Given the description of an element on the screen output the (x, y) to click on. 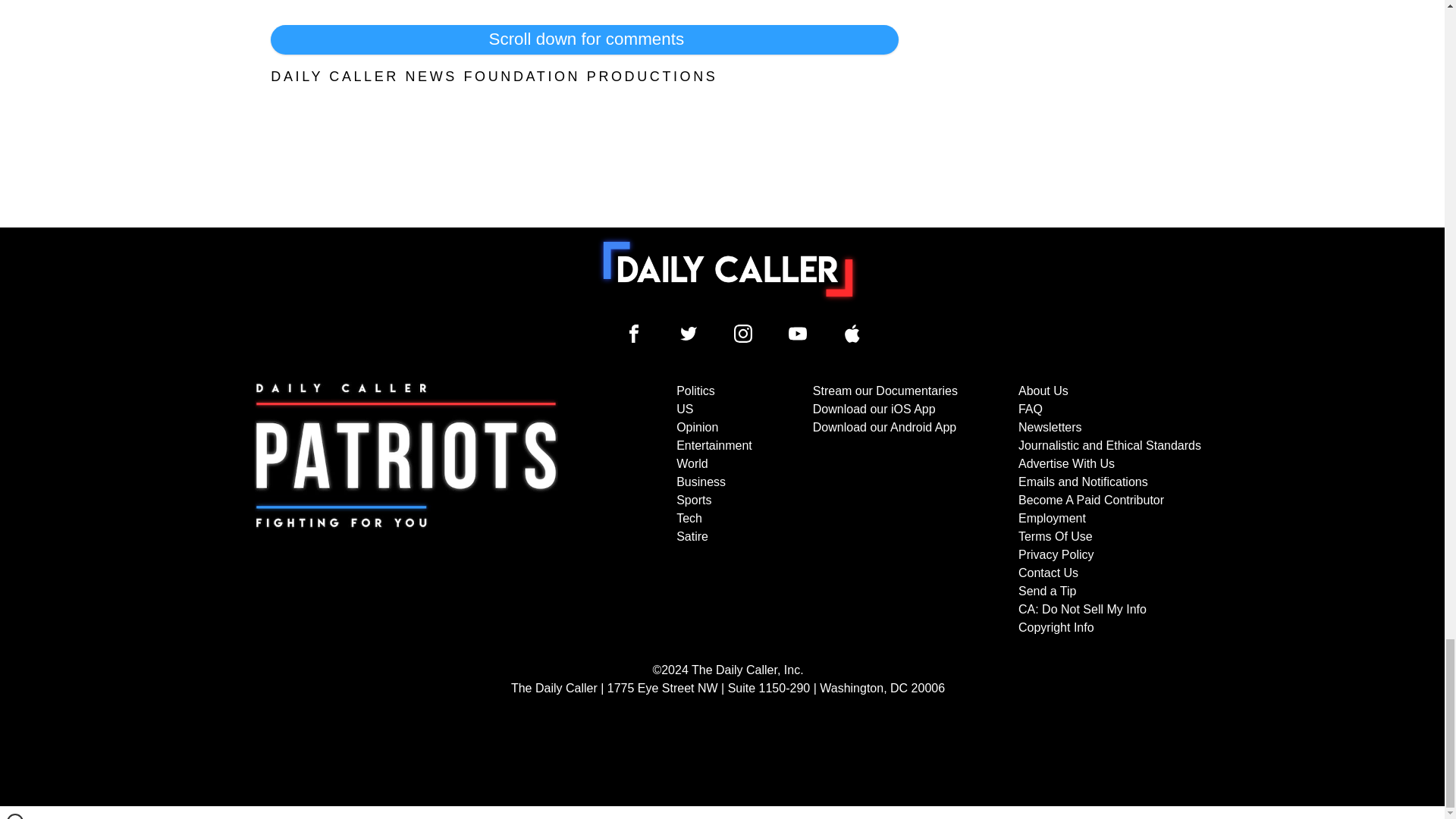
To home page (727, 268)
Daily Caller Twitter (688, 333)
Subscribe to The Daily Caller (405, 509)
Daily Caller YouTube (852, 333)
Scroll down for comments (584, 39)
Daily Caller YouTube (797, 333)
Daily Caller Facebook (633, 333)
Daily Caller Instagram (742, 333)
